Given the description of an element on the screen output the (x, y) to click on. 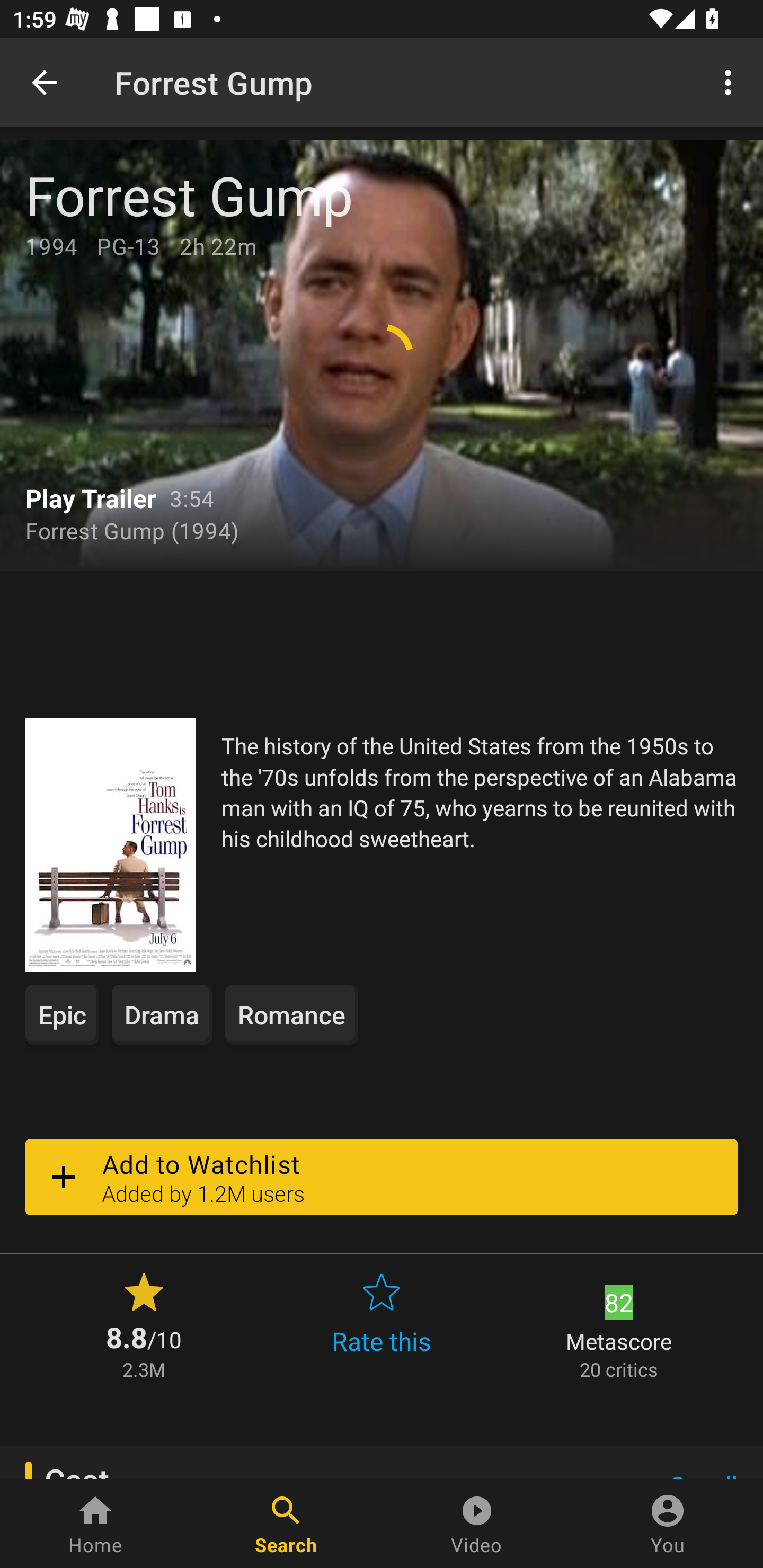
More options (731, 81)
toggle controls (381, 354)
Epic (62, 1014)
Drama (162, 1014)
Romance (291, 1014)
Add to Watchlist Added by 1.2M users (381, 1176)
8.8 /10 2.3M (143, 1323)
Rate this (381, 1323)
82 Metascore 20 critics (618, 1323)
Home (95, 1523)
Video (476, 1523)
You (667, 1523)
